Given the description of an element on the screen output the (x, y) to click on. 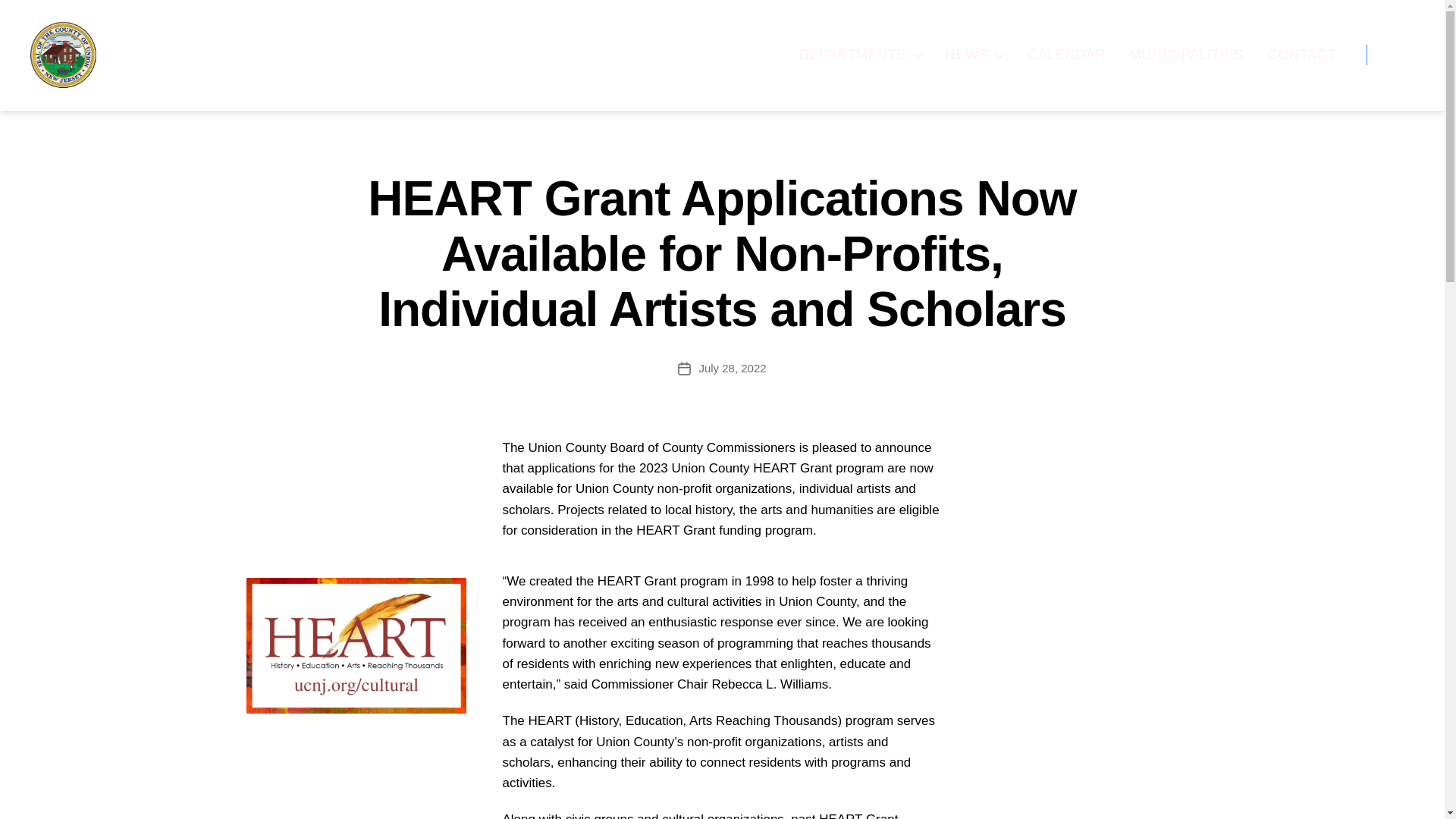
CALENDAR (1066, 54)
DEPARTMENTS (860, 54)
CONTACT (1302, 54)
MUNICIPALITIES (1186, 54)
NEWS (973, 54)
